Given the description of an element on the screen output the (x, y) to click on. 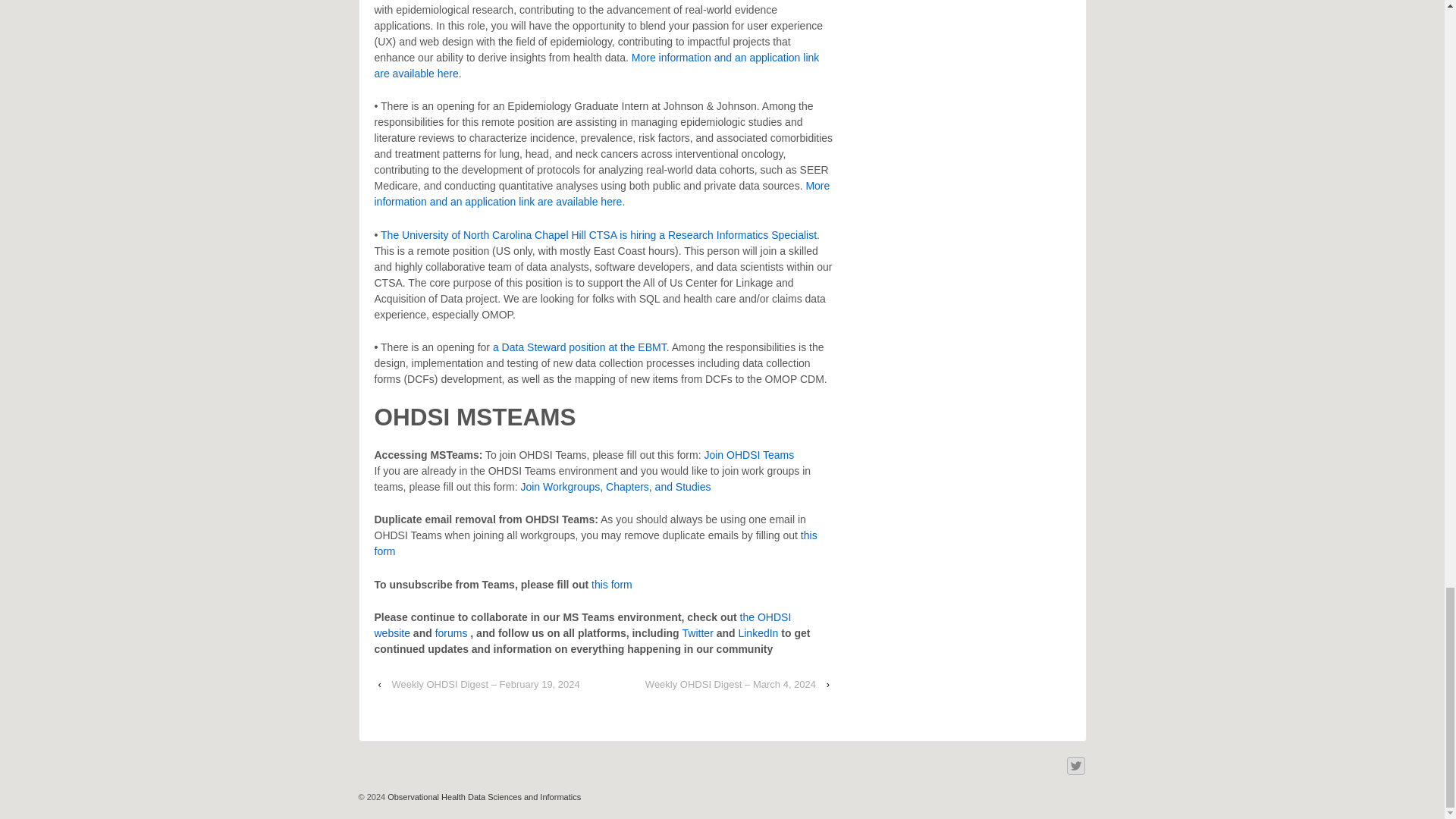
OHDSI (482, 796)
